Given the description of an element on the screen output the (x, y) to click on. 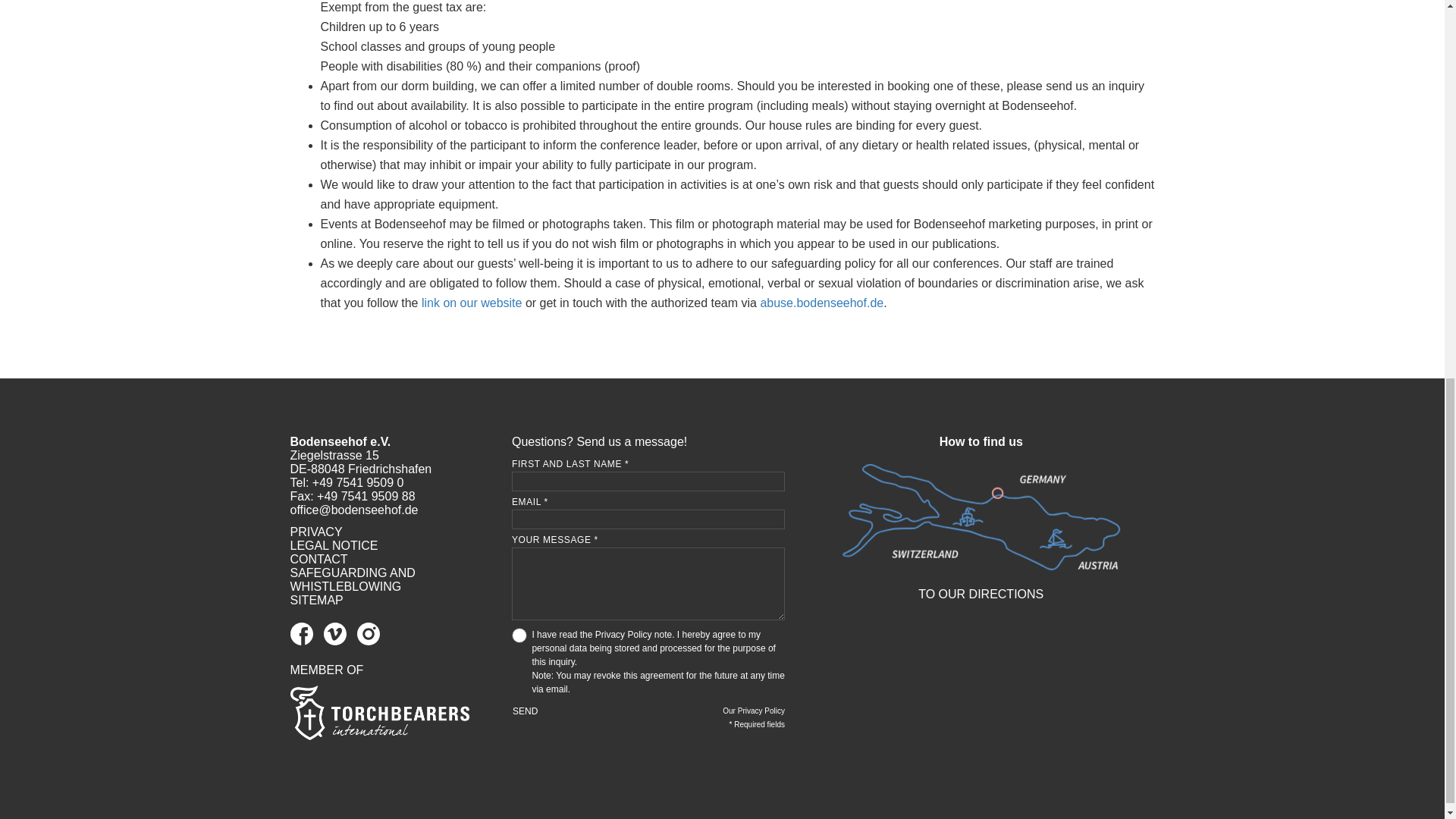
Follow us on Facebook (306, 640)
Follow us on Vimeo (339, 640)
Follow us on Instagram (371, 640)
